Given the description of an element on the screen output the (x, y) to click on. 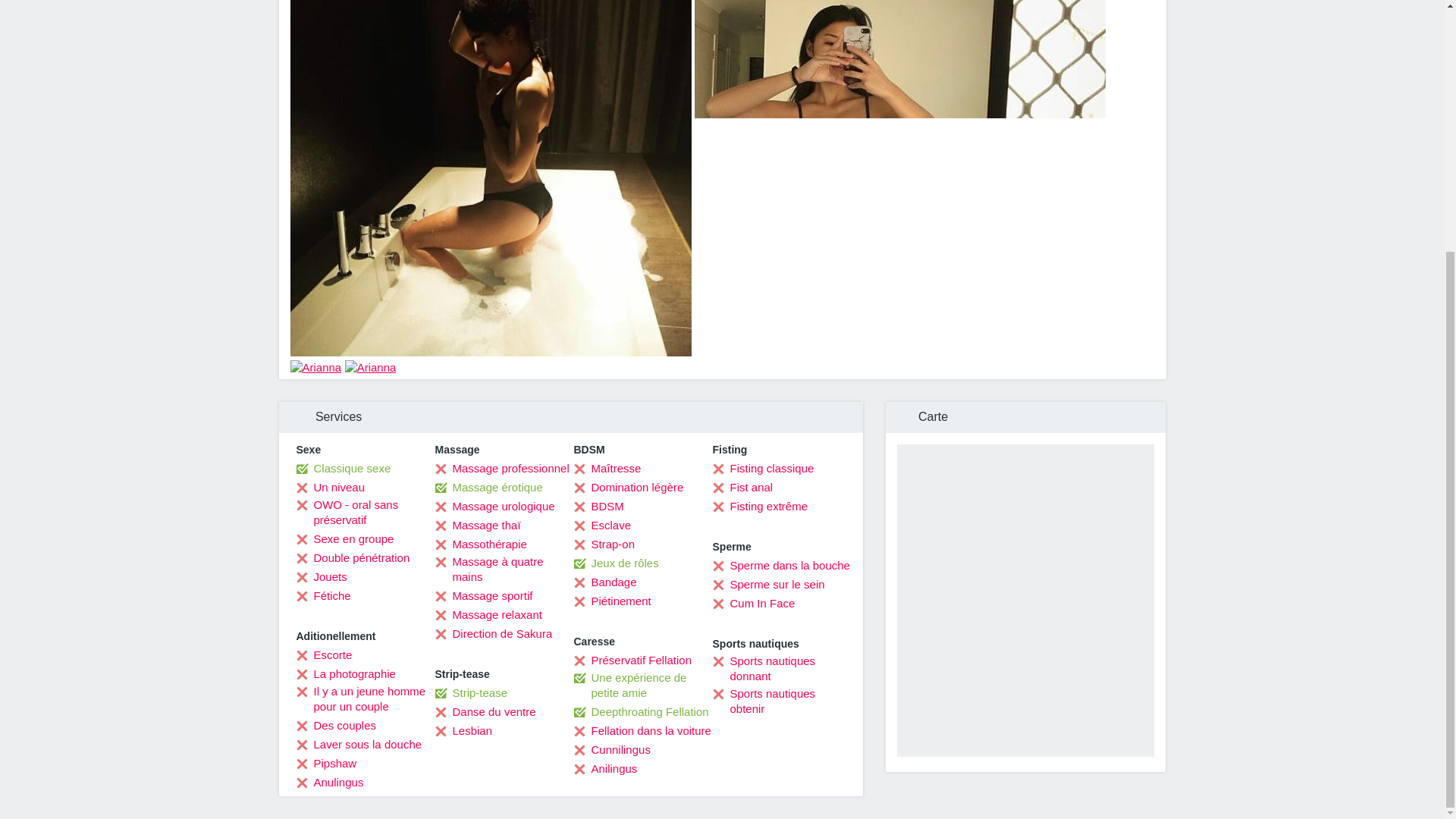
Un niveau (330, 487)
Escorte (323, 654)
Jouets (320, 576)
Massage urologique (494, 506)
Massage professionnel (502, 468)
Il y a un jeune homme pour un couple (364, 698)
La photographie (344, 673)
Pipshaw (325, 763)
Anulingus (328, 782)
Sexe en groupe (344, 539)
Des couples (335, 725)
Laver sous la douche (358, 744)
Classique sexe (342, 468)
